Given the description of an element on the screen output the (x, y) to click on. 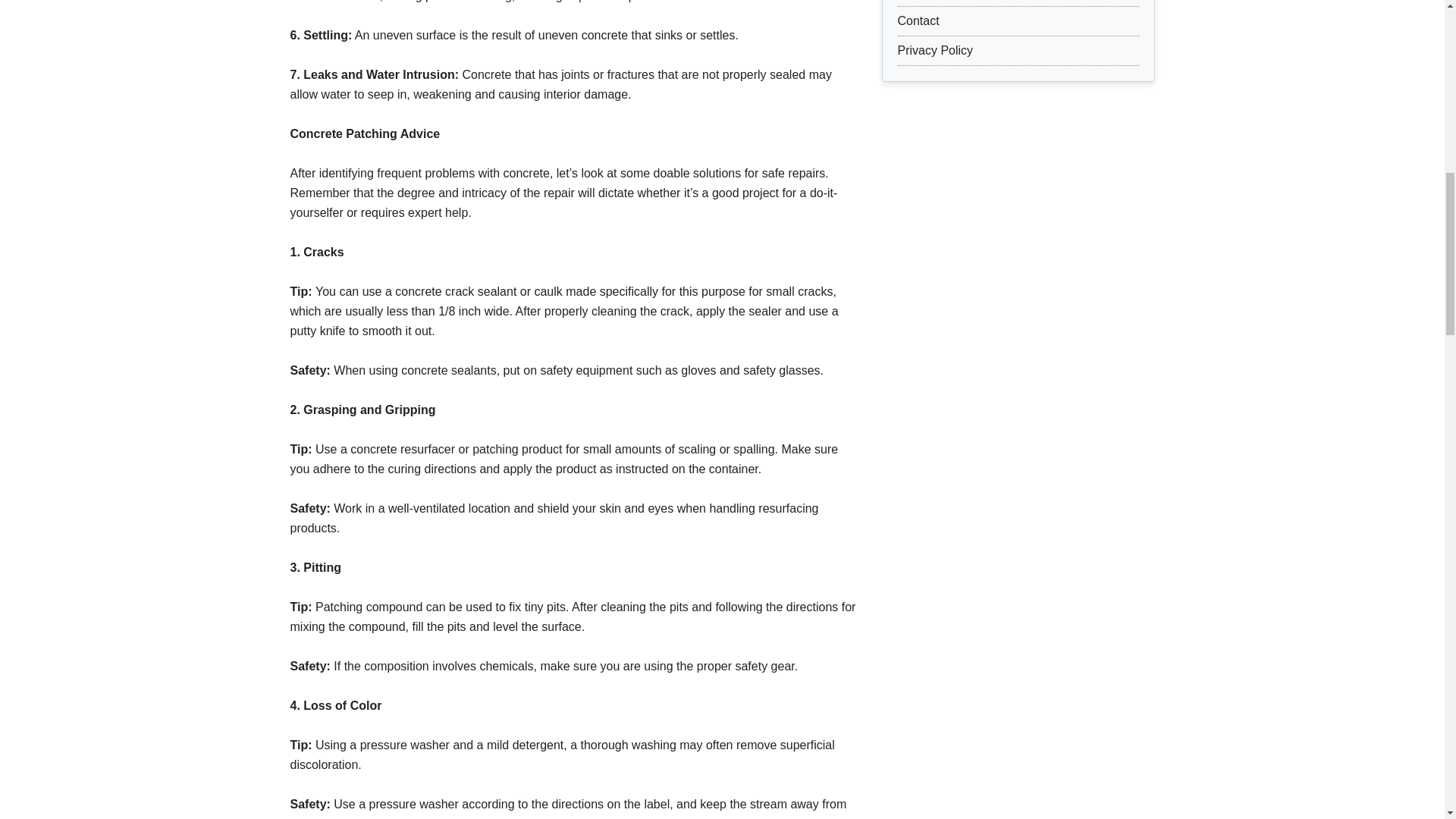
Privacy Policy (936, 50)
Contact (918, 20)
